Given the description of an element on the screen output the (x, y) to click on. 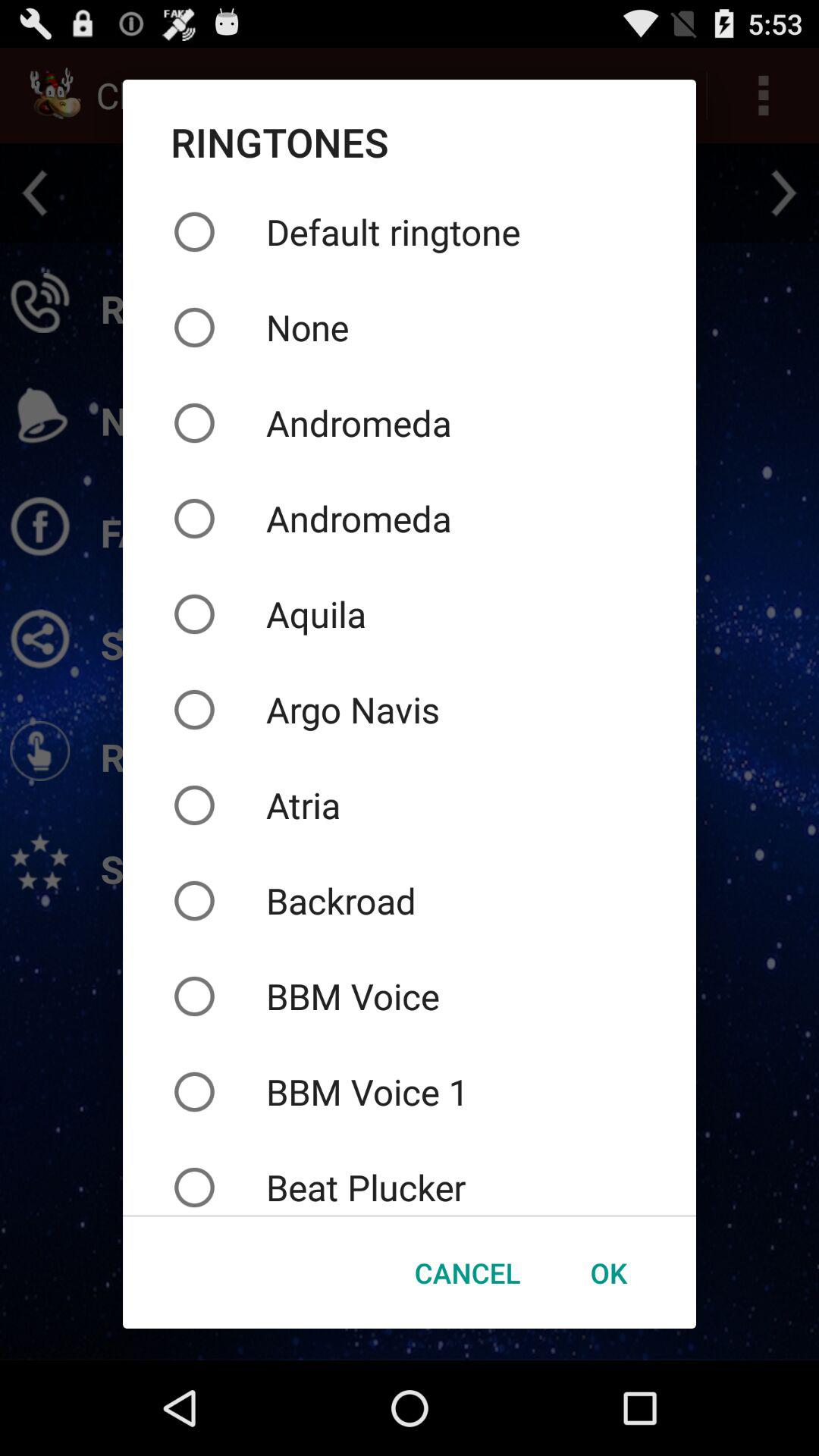
flip to cancel icon (467, 1272)
